Given the description of an element on the screen output the (x, y) to click on. 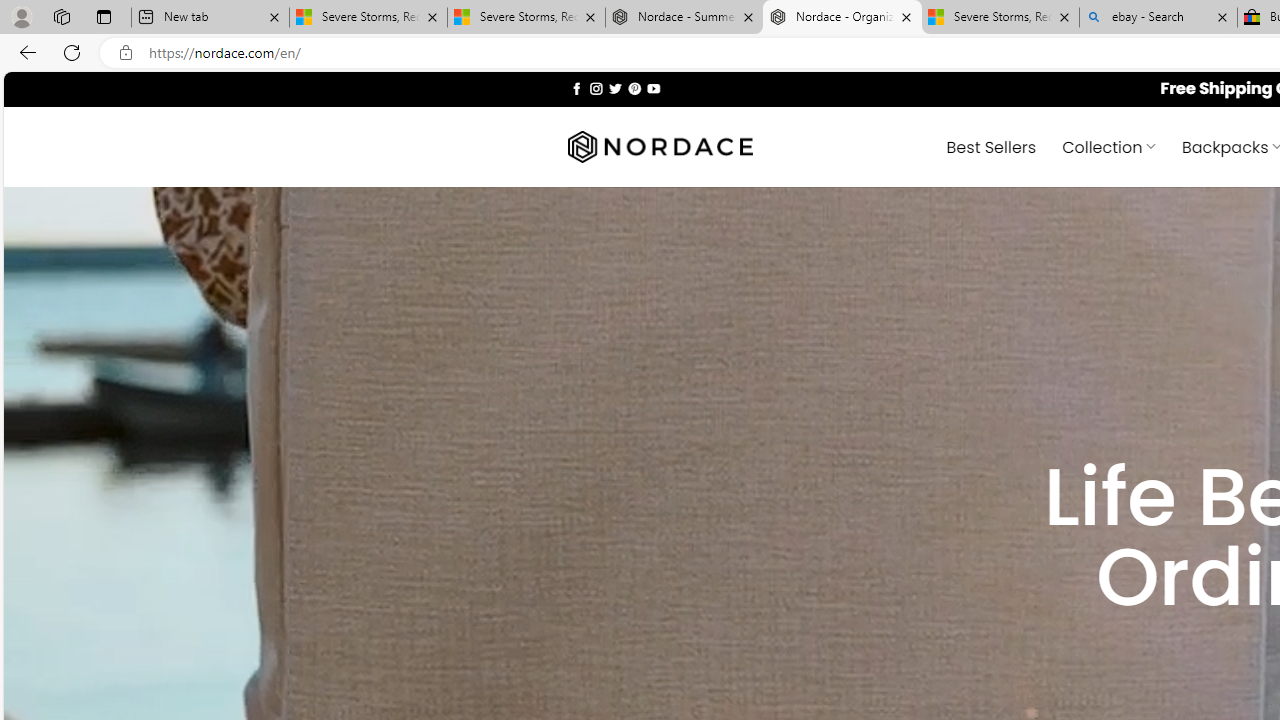
ebay - Search (1158, 17)
 Best Sellers (990, 146)
Follow on Instagram (596, 88)
